Given the description of an element on the screen output the (x, y) to click on. 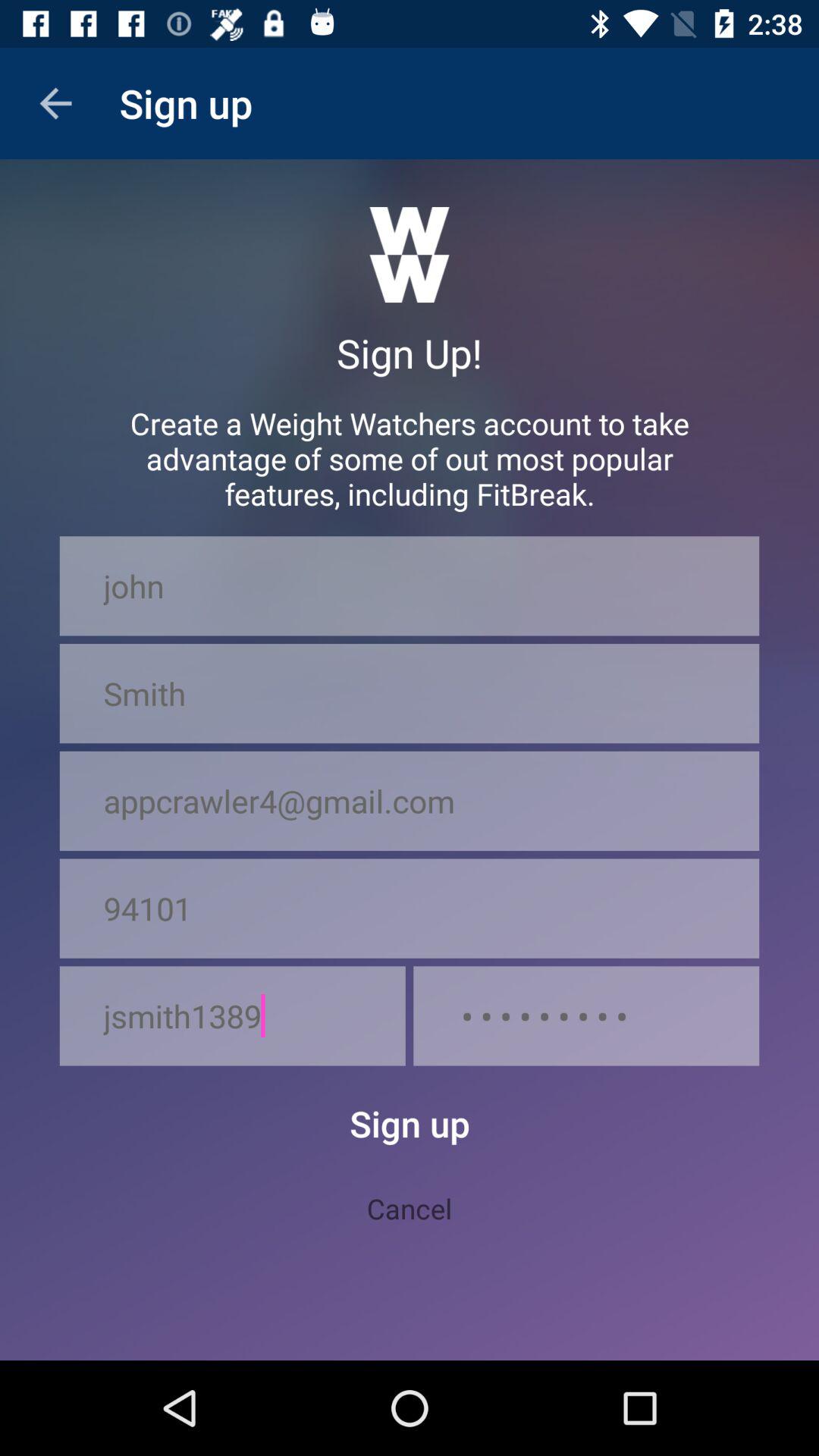
flip to the crowd3116 item (586, 1015)
